Given the description of an element on the screen output the (x, y) to click on. 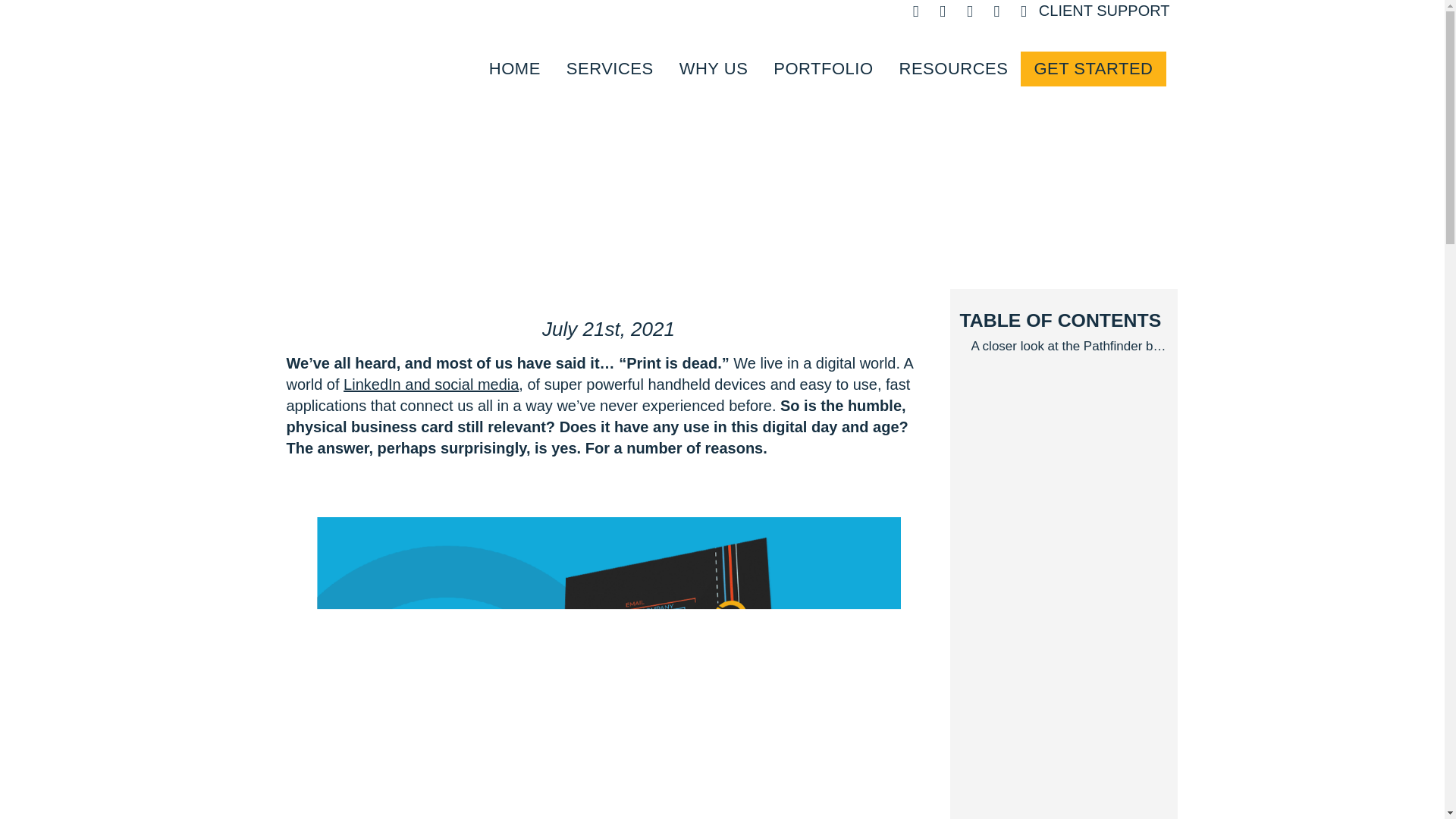
HOME (514, 71)
SERVICES (609, 71)
PORTFOLIO (822, 71)
LinkedIn and social media (430, 384)
CLIENT SUPPORT (1104, 10)
WHY US (713, 71)
GET STARTED (1093, 68)
RESOURCES (954, 71)
